Given the description of an element on the screen output the (x, y) to click on. 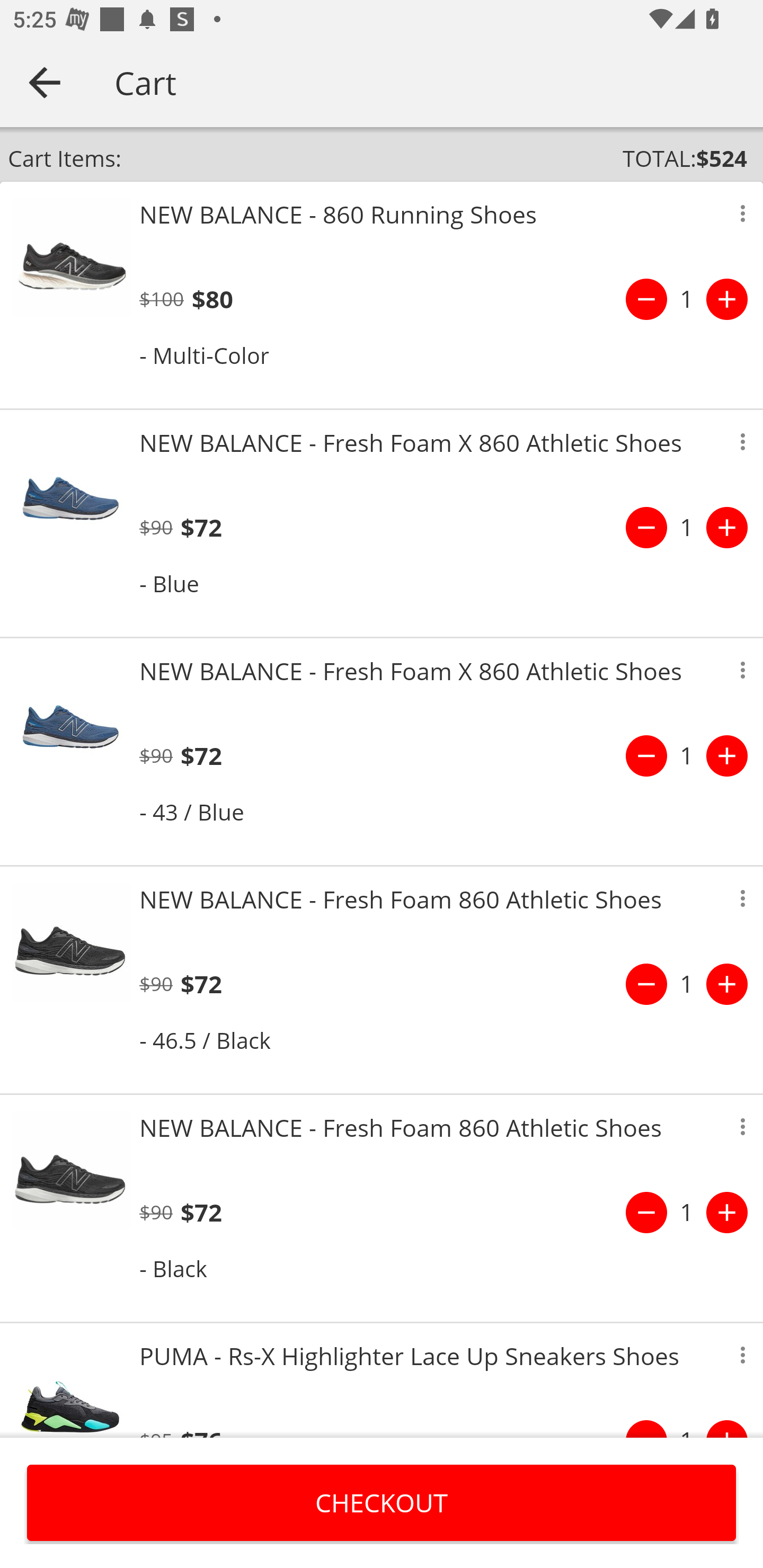
Navigate up (44, 82)
1 (686, 299)
1 (686, 527)
1 (686, 755)
1 (686, 984)
1 (686, 1211)
CHECKOUT (381, 1502)
